Given the description of an element on the screen output the (x, y) to click on. 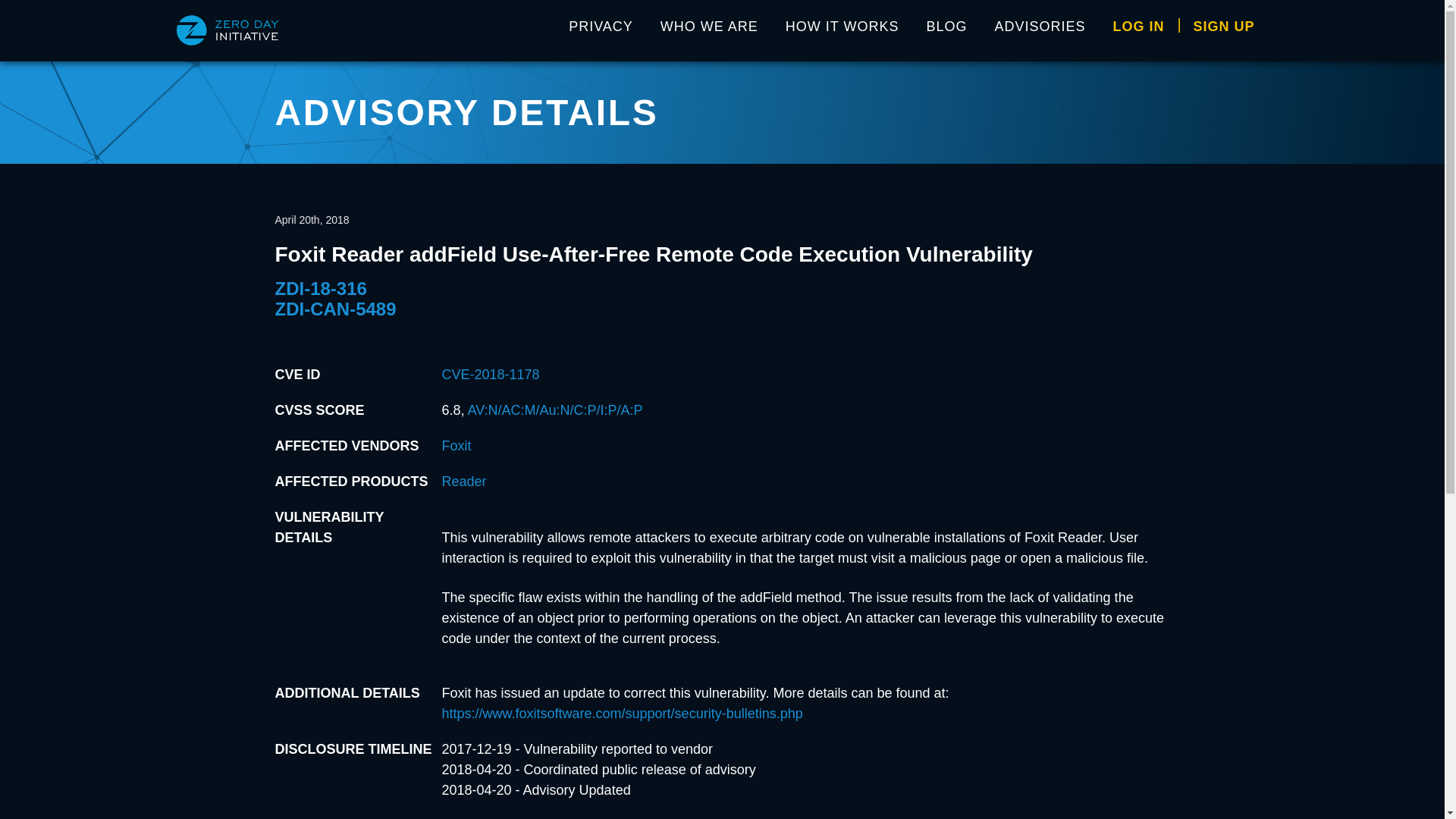
CVE-2018-1178 (489, 374)
PRIVACY (600, 30)
WHO WE ARE (708, 30)
Reader (463, 481)
Foxit (455, 445)
SIGN UP (1224, 30)
HOW IT WORKS (841, 30)
LOG IN (1138, 30)
ADVISORIES (1040, 30)
BLOG (946, 30)
